Given the description of an element on the screen output the (x, y) to click on. 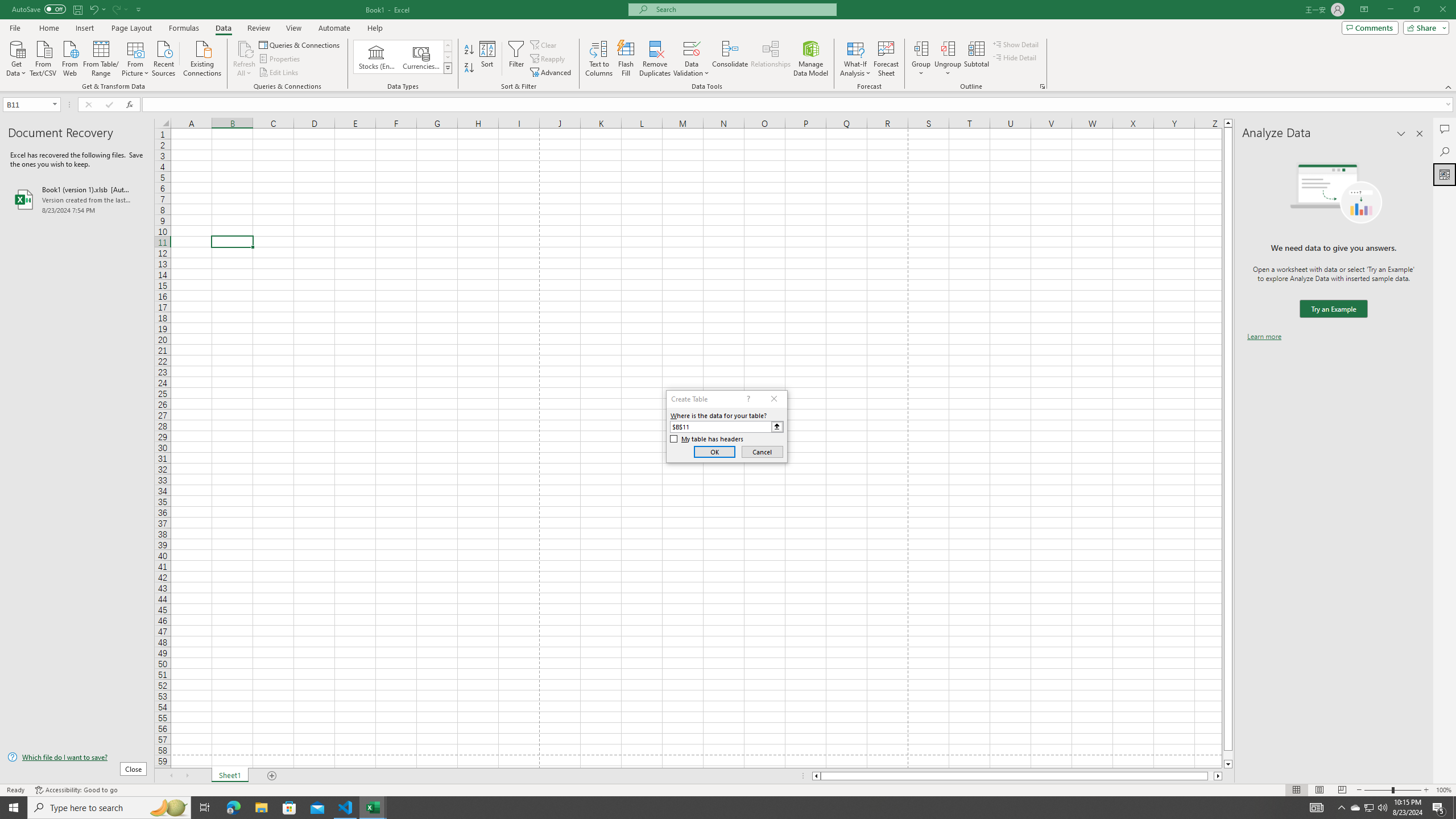
Insert (83, 28)
Quick Access Toolbar (77, 9)
Refresh All (244, 48)
From Web (69, 57)
From Picture (135, 57)
Currencies (English) (420, 56)
Group and Outline Settings (1042, 85)
Row Down (448, 56)
Group... (921, 48)
Name Box (30, 104)
Refresh All (244, 58)
Analyze Data (1444, 173)
Line up (1228, 122)
Formulas (184, 28)
Page Layout (1318, 790)
